Given the description of an element on the screen output the (x, y) to click on. 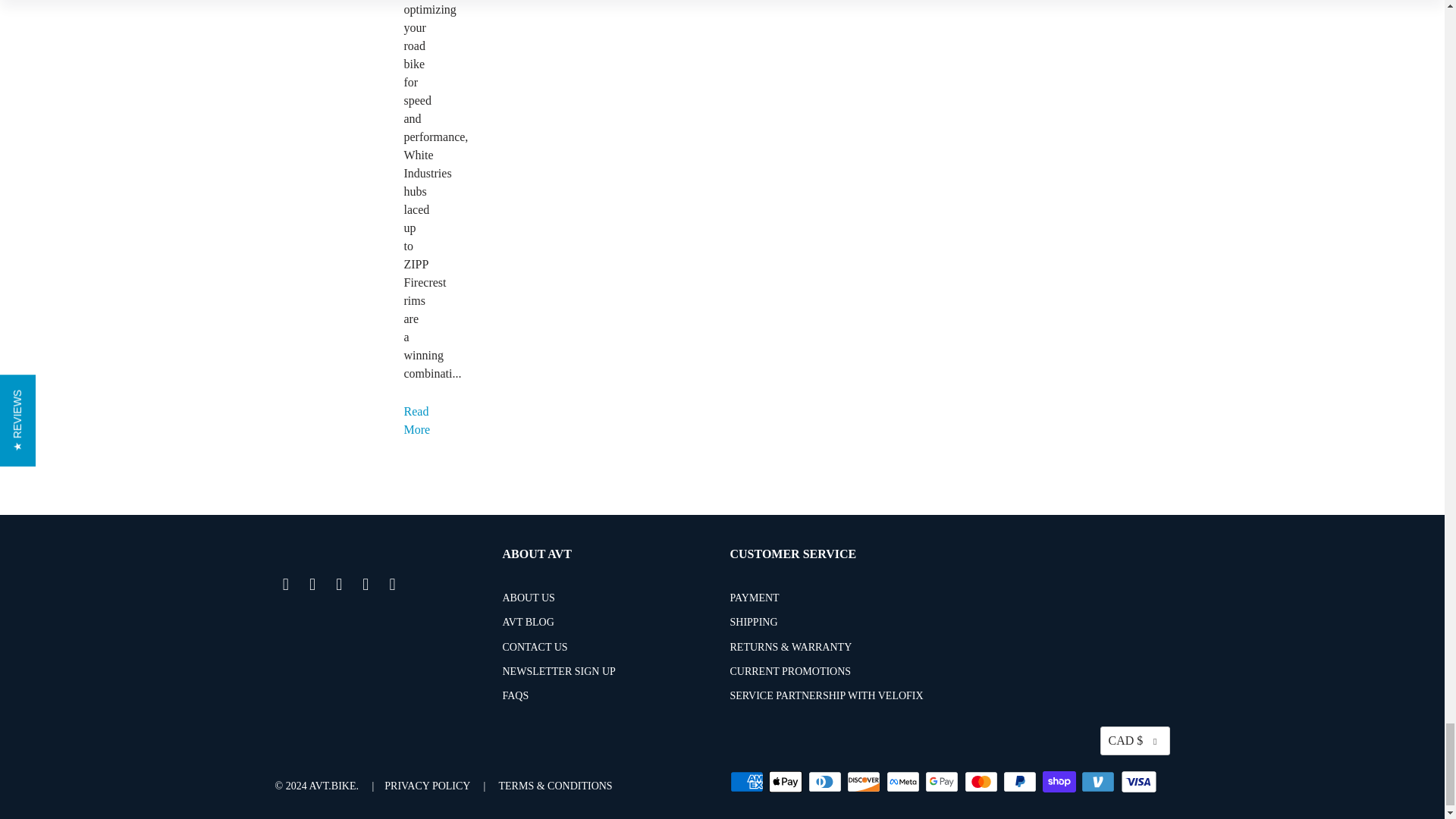
VENMO (1099, 781)
APPLE PAY (786, 781)
DINERS CLUB (826, 781)
META PAY (903, 781)
GOOGLE PAY (942, 781)
MASTERCARD (982, 781)
AMERICAN EXPRESS (747, 781)
DISCOVER (865, 781)
PAYPAL (1021, 781)
VISA (1139, 781)
